Given the description of an element on the screen output the (x, y) to click on. 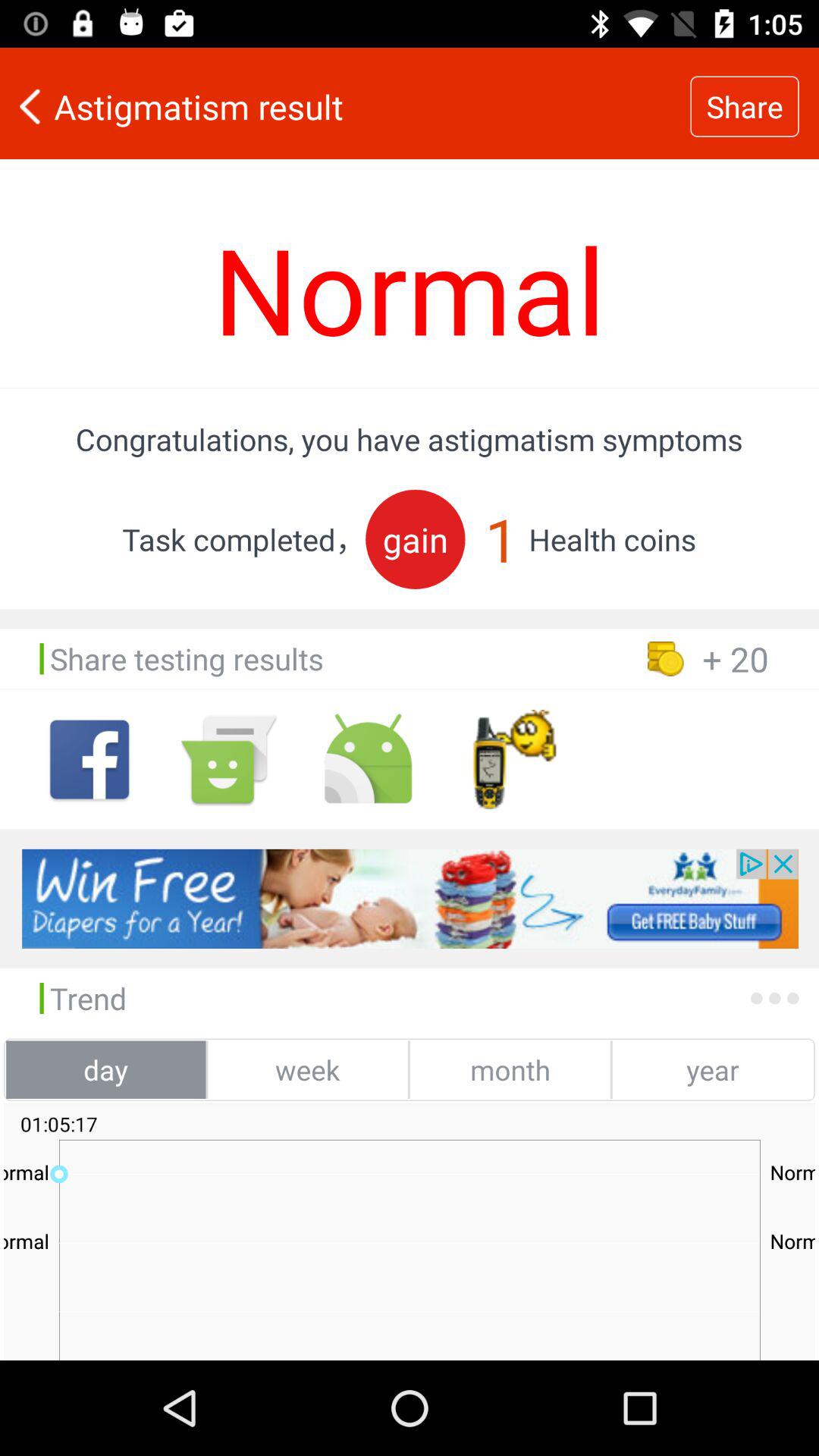
turn off the day (105, 1069)
